Given the description of an element on the screen output the (x, y) to click on. 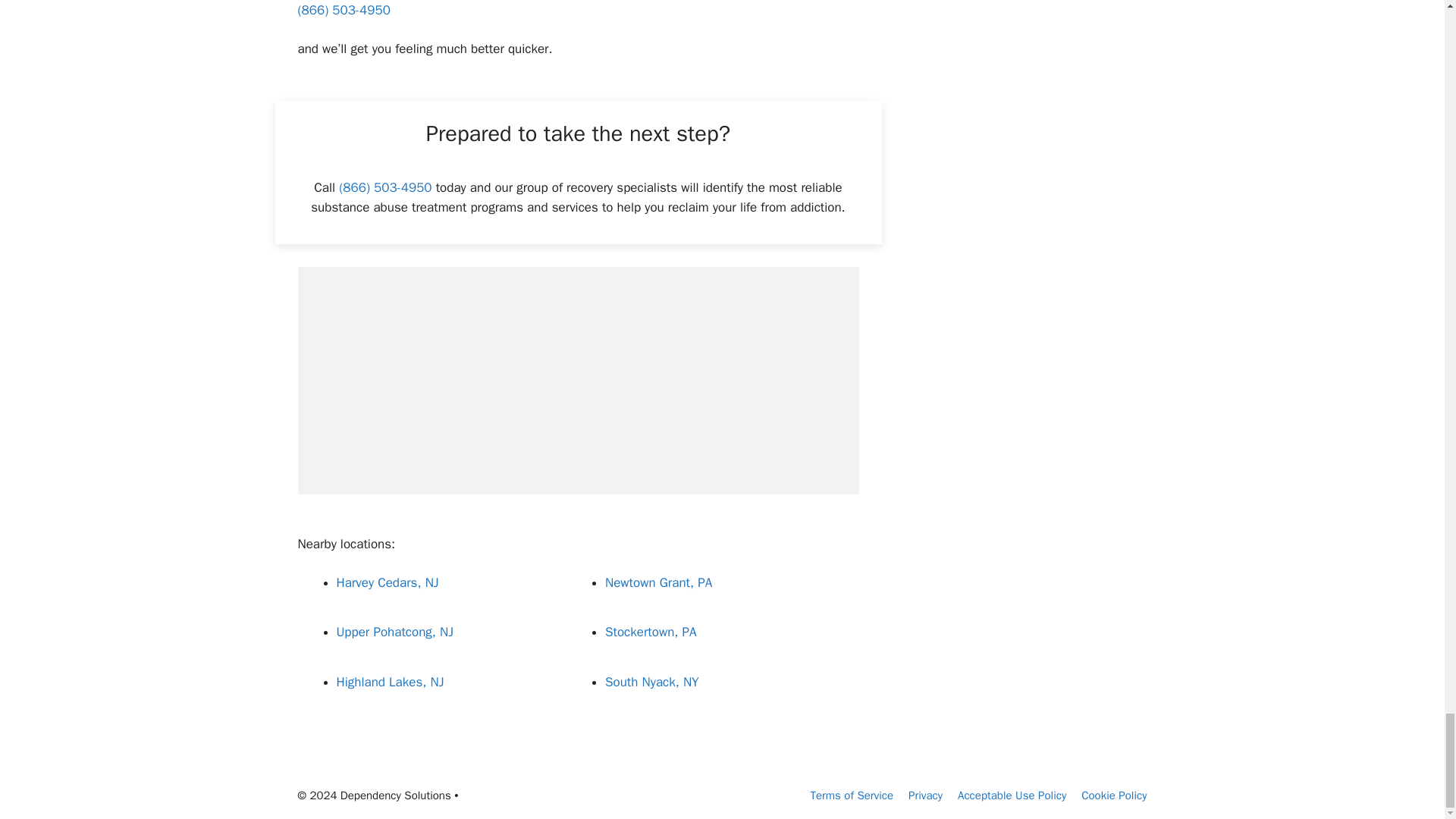
Terms of Service (851, 795)
South Nyack, NY (651, 682)
Stockertown, PA (651, 631)
Privacy (925, 795)
Highland Lakes, NJ (390, 682)
Harvey Cedars, NJ (387, 582)
Harvey Cedars, NJ (387, 582)
South Nyack, NY (651, 682)
Newtown Grant, PA (658, 582)
Upper Pohatcong, NJ (395, 631)
